Given the description of an element on the screen output the (x, y) to click on. 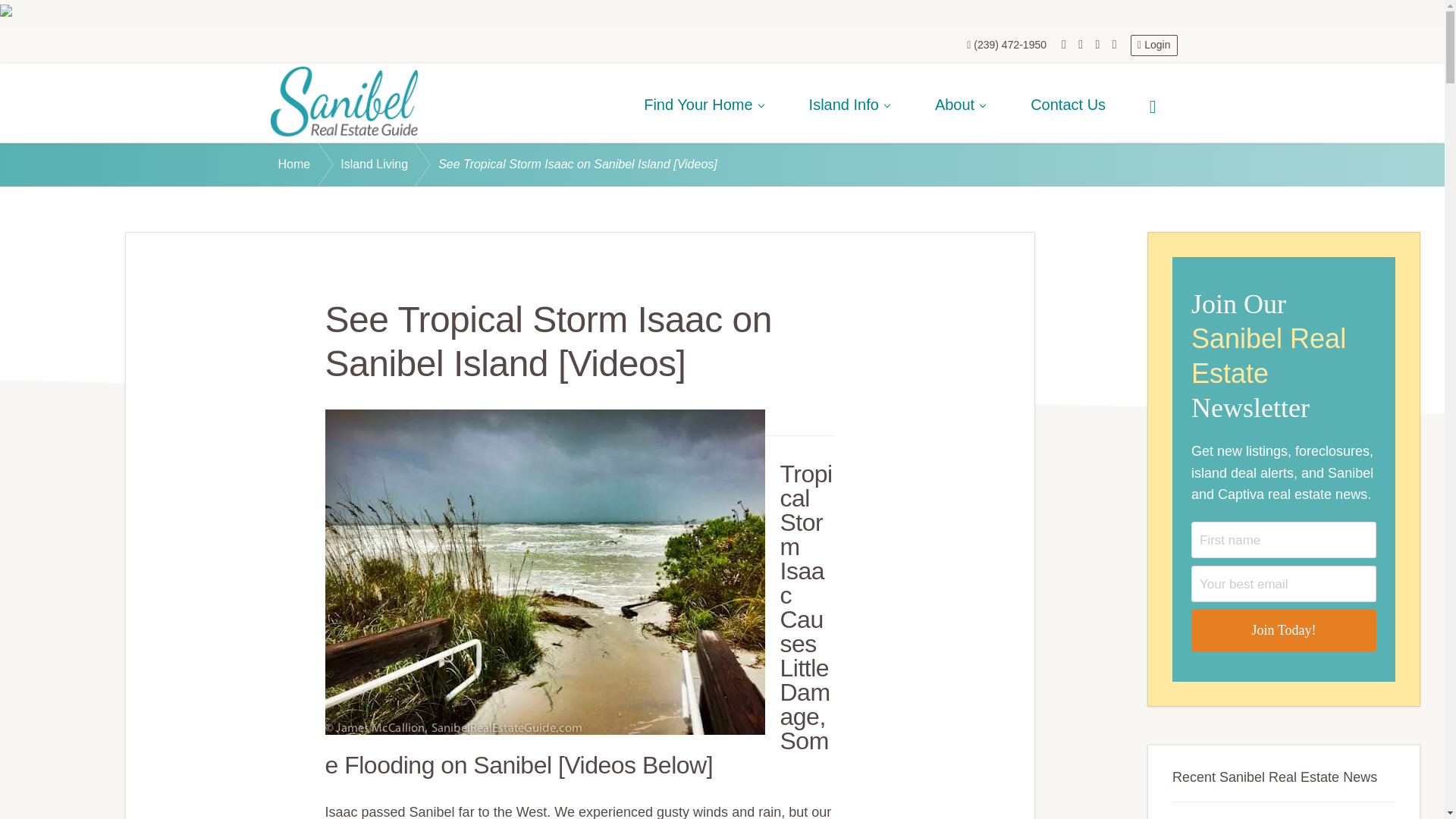
Find Real Estate on Sanibel (703, 102)
About (959, 102)
Join Today! (1283, 630)
Contact Us (1067, 102)
Login (1153, 45)
Island Info (849, 102)
Island Living (389, 164)
Find Your Home (703, 102)
Info about Sanibel and Captiva (849, 102)
Home (309, 164)
